Given the description of an element on the screen output the (x, y) to click on. 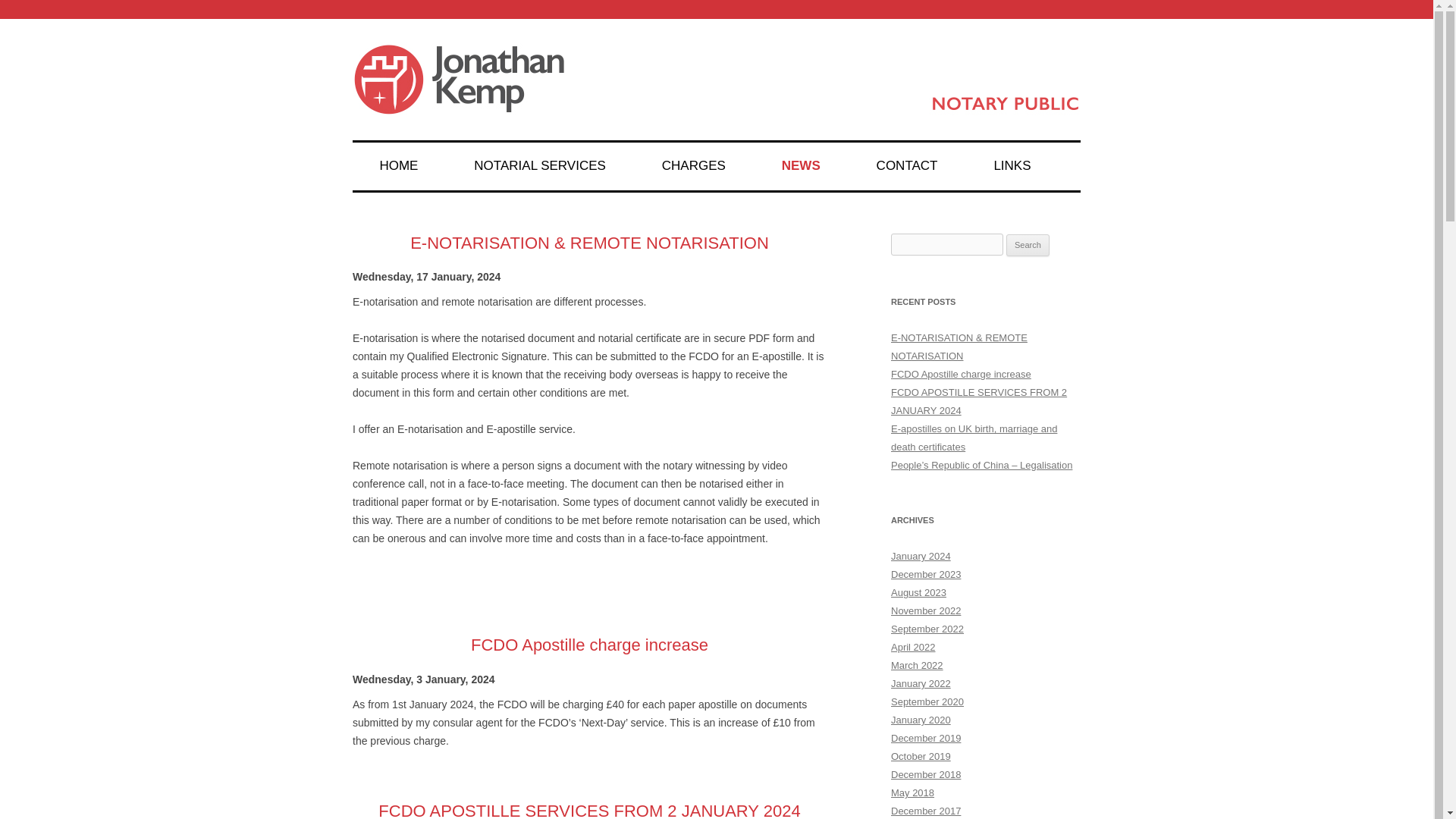
March 2022 (917, 665)
April 2022 (912, 646)
September 2022 (927, 628)
CHARGES (693, 166)
NEWS (801, 166)
FCDO Apostille charge increase (588, 644)
E-apostilles on UK birth, marriage and death certificates (974, 437)
FCDO Apostille charge increase (960, 374)
December 2019 (925, 737)
January 2022 (920, 683)
Search (1027, 245)
LINKS (1011, 166)
November 2022 (925, 610)
May 2018 (912, 792)
December 2017 (925, 810)
